Given the description of an element on the screen output the (x, y) to click on. 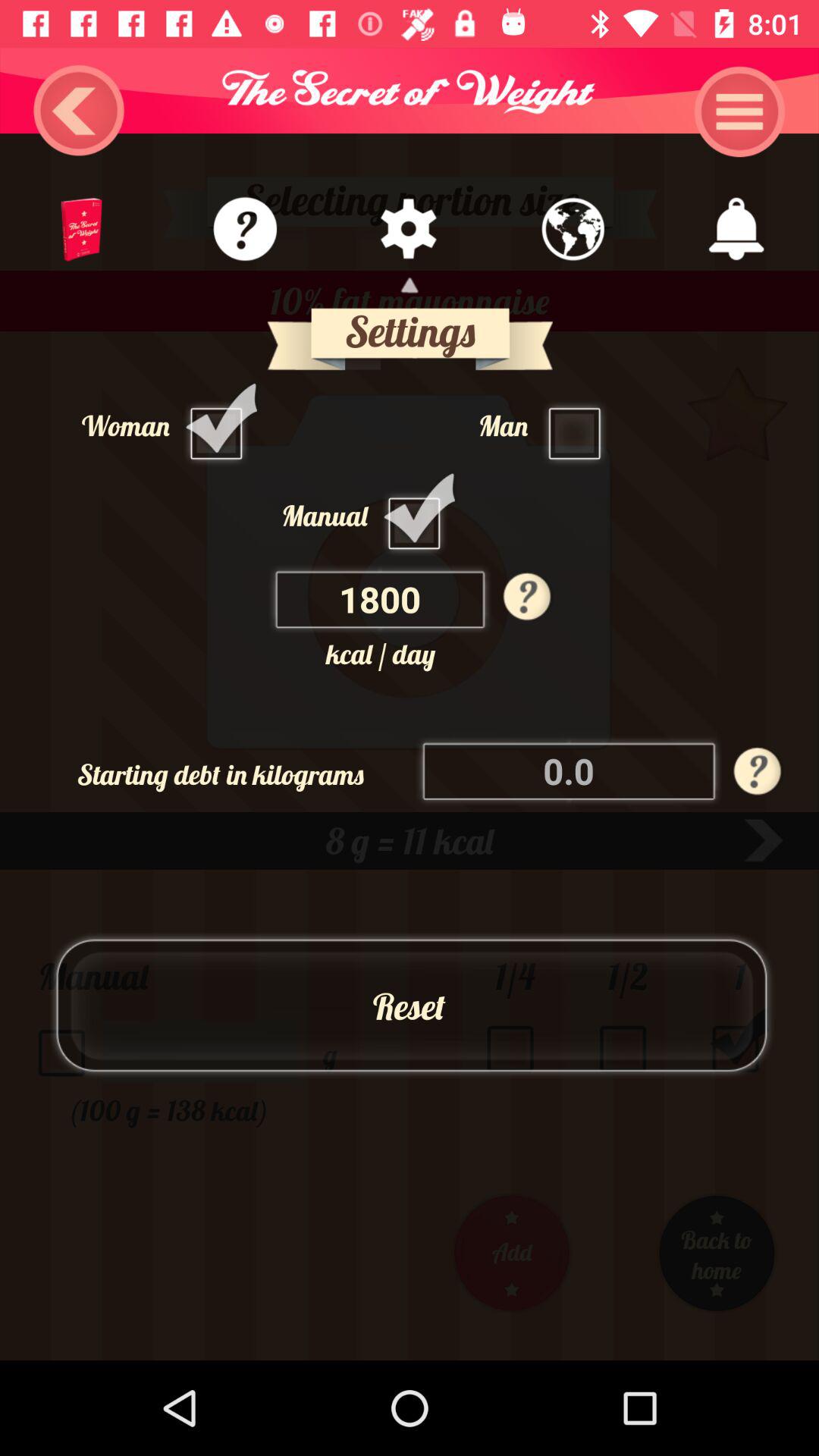
select your gender option (578, 425)
